Given the description of an element on the screen output the (x, y) to click on. 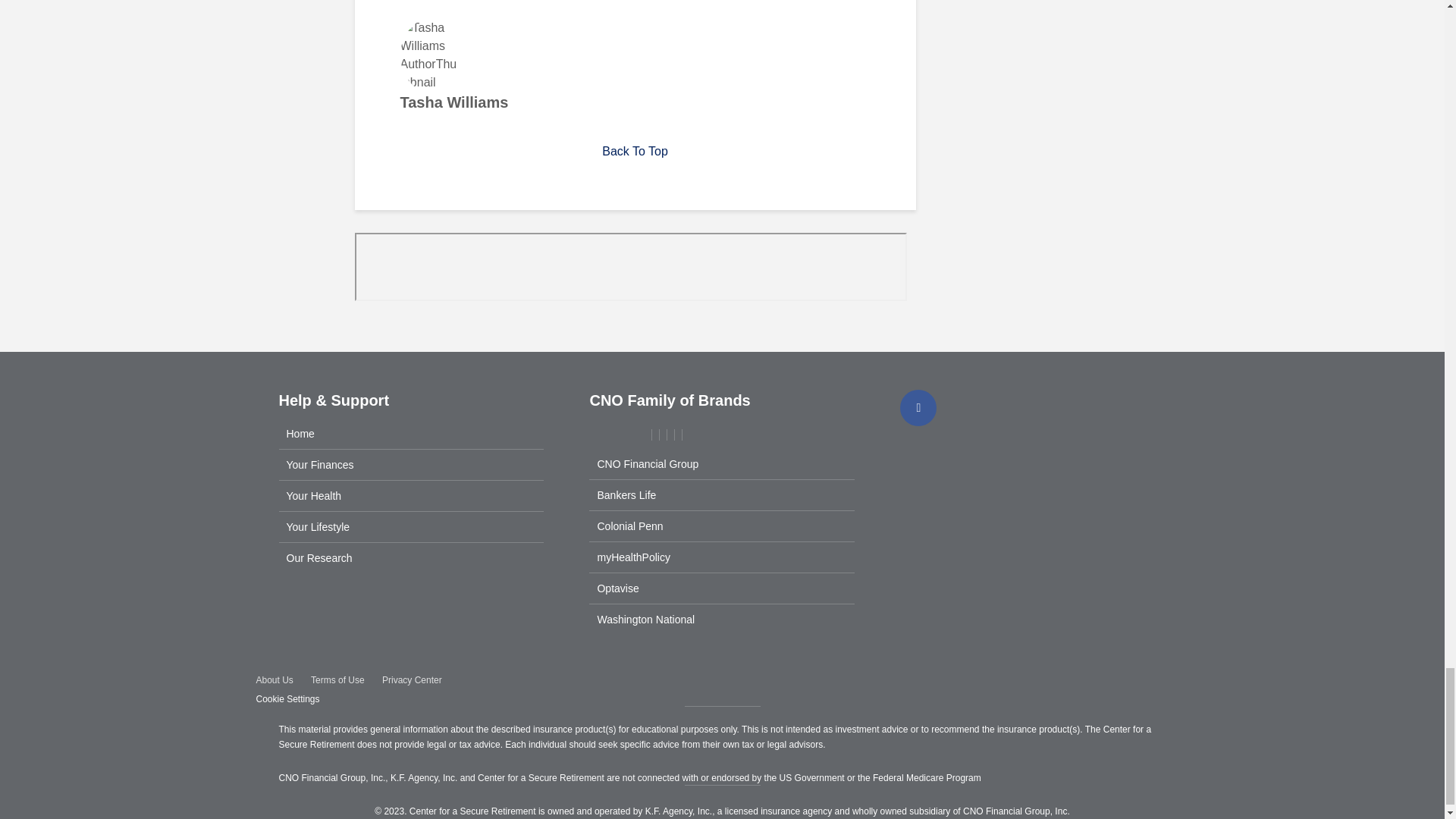
Facebook (917, 407)
